Given the description of an element on the screen output the (x, y) to click on. 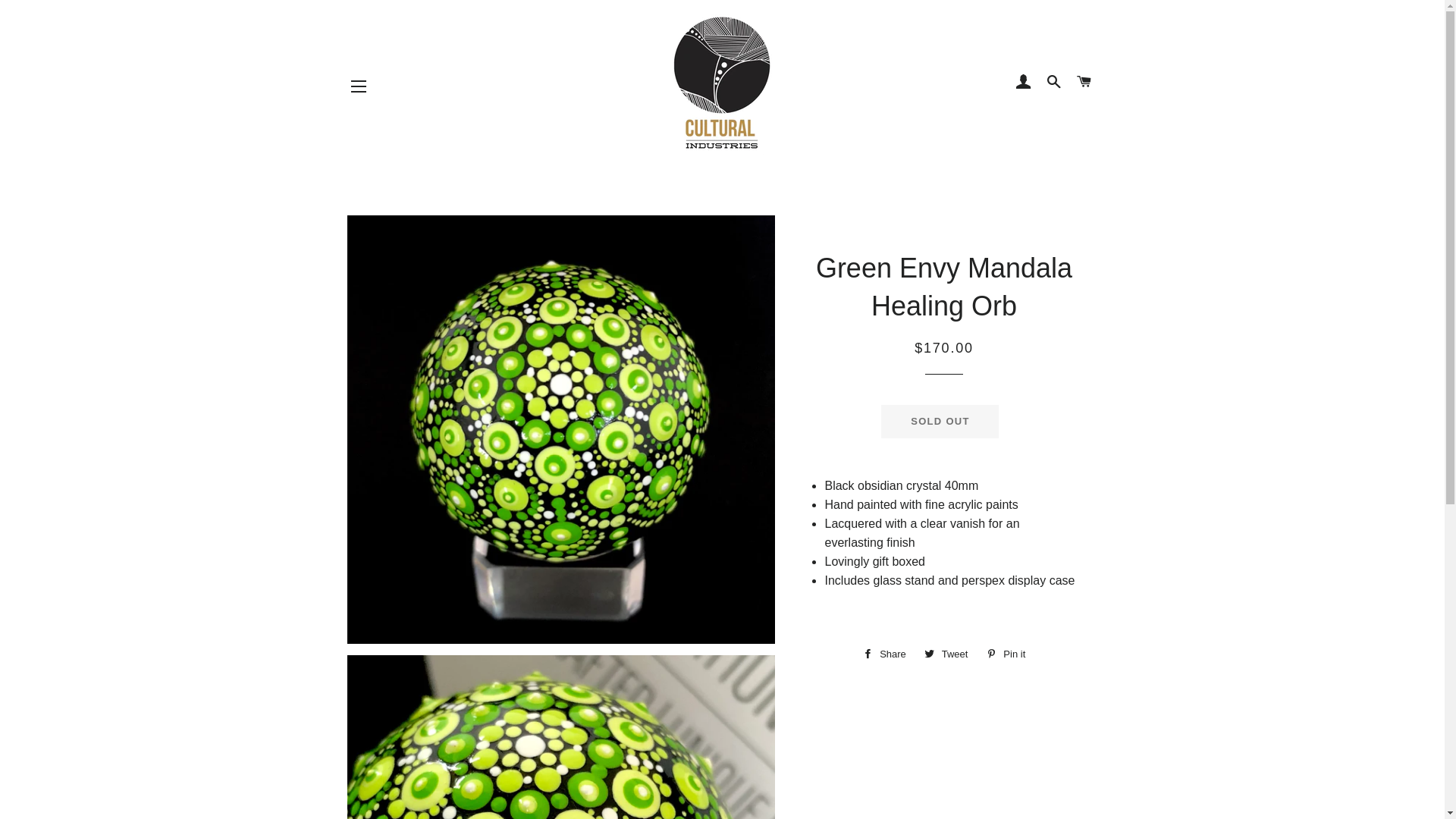
Share
Share on Facebook Element type: text (884, 654)
SITE NAVIGATION Element type: text (358, 85)
CART Element type: text (1083, 82)
LOG IN Element type: text (1023, 82)
Pin it
Pin on Pinterest Element type: text (1005, 654)
SOLD OUT Element type: text (939, 421)
Tweet
Tweet on Twitter Element type: text (945, 654)
SEARCH Element type: text (1053, 82)
